Given the description of an element on the screen output the (x, y) to click on. 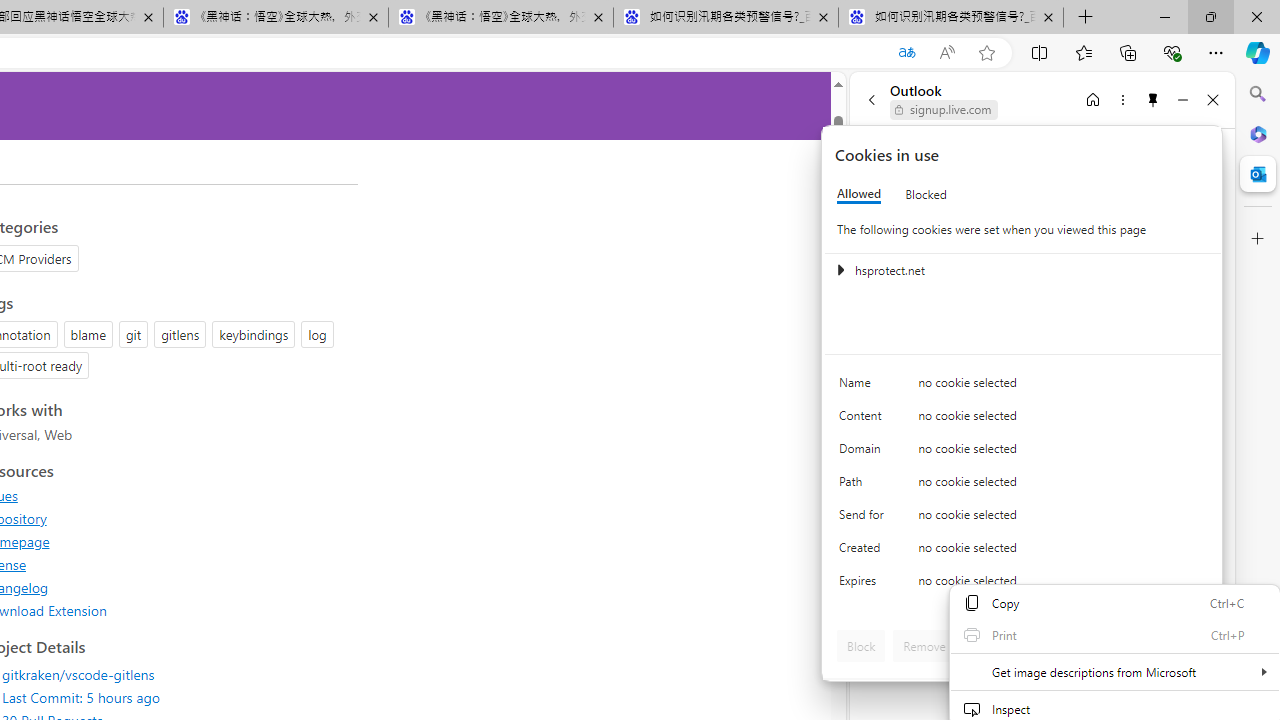
Block (861, 645)
Expires (864, 585)
Class: c0153 c0157 (1023, 584)
Send for (864, 518)
Path (864, 485)
Get image descriptions from Microsoft (1114, 671)
Domain (864, 452)
no cookie selected (1062, 585)
Copy (1114, 602)
Name (864, 387)
Remove (924, 645)
Content (864, 420)
Print (1114, 634)
Created (864, 552)
Allowed (859, 193)
